Given the description of an element on the screen output the (x, y) to click on. 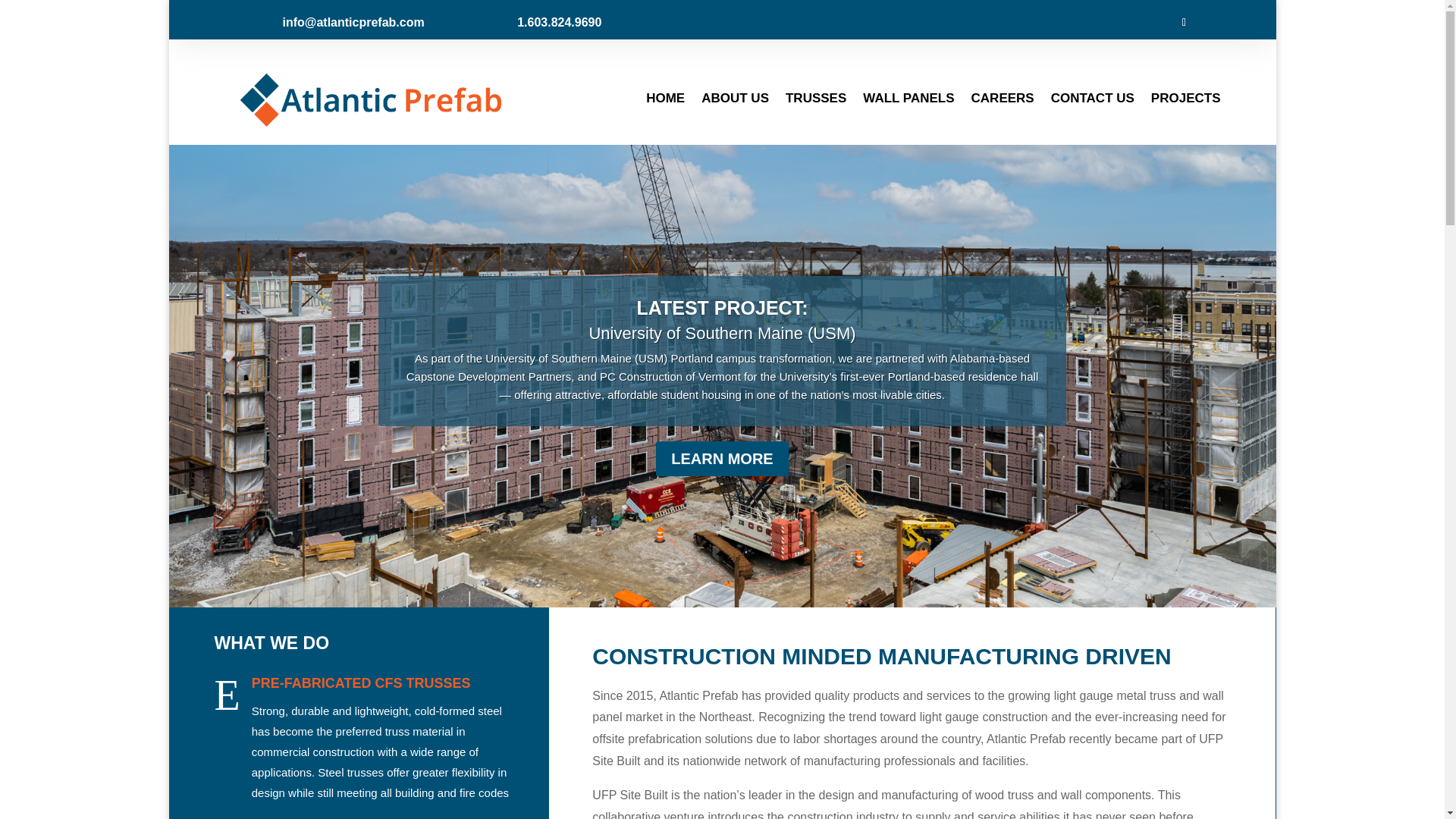
PROJECTS (1186, 98)
LATEST PROJECT: (722, 307)
WALL PANELS (908, 98)
ABOUT US (734, 98)
LEARN MORE (721, 458)
CONTACT US (1092, 98)
Follow on LinkedIn (1183, 22)
